Given the description of an element on the screen output the (x, y) to click on. 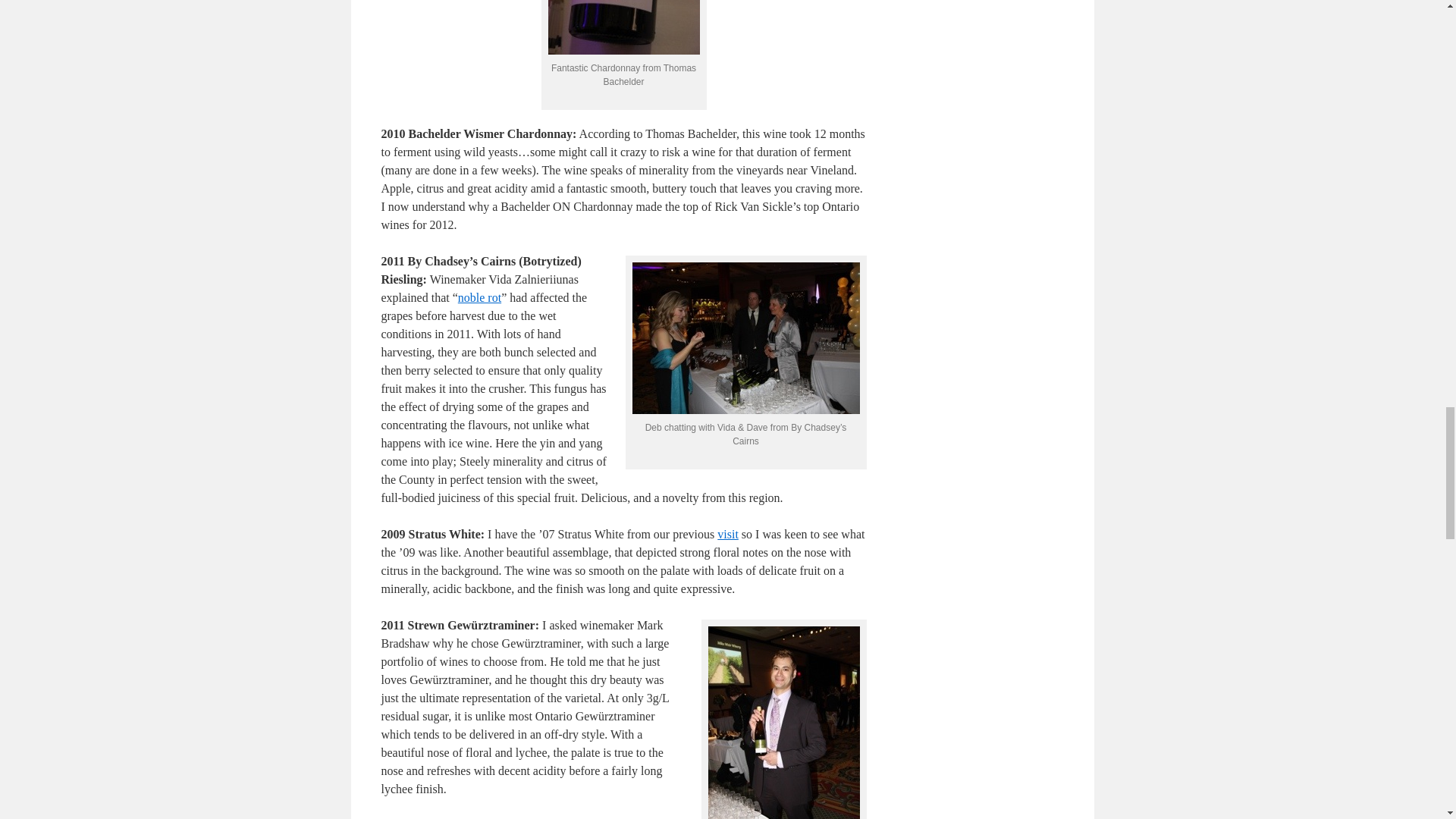
Stratus Visit (727, 533)
visit (727, 533)
Noble Rot (479, 297)
noble rot (479, 297)
